Given the description of an element on the screen output the (x, y) to click on. 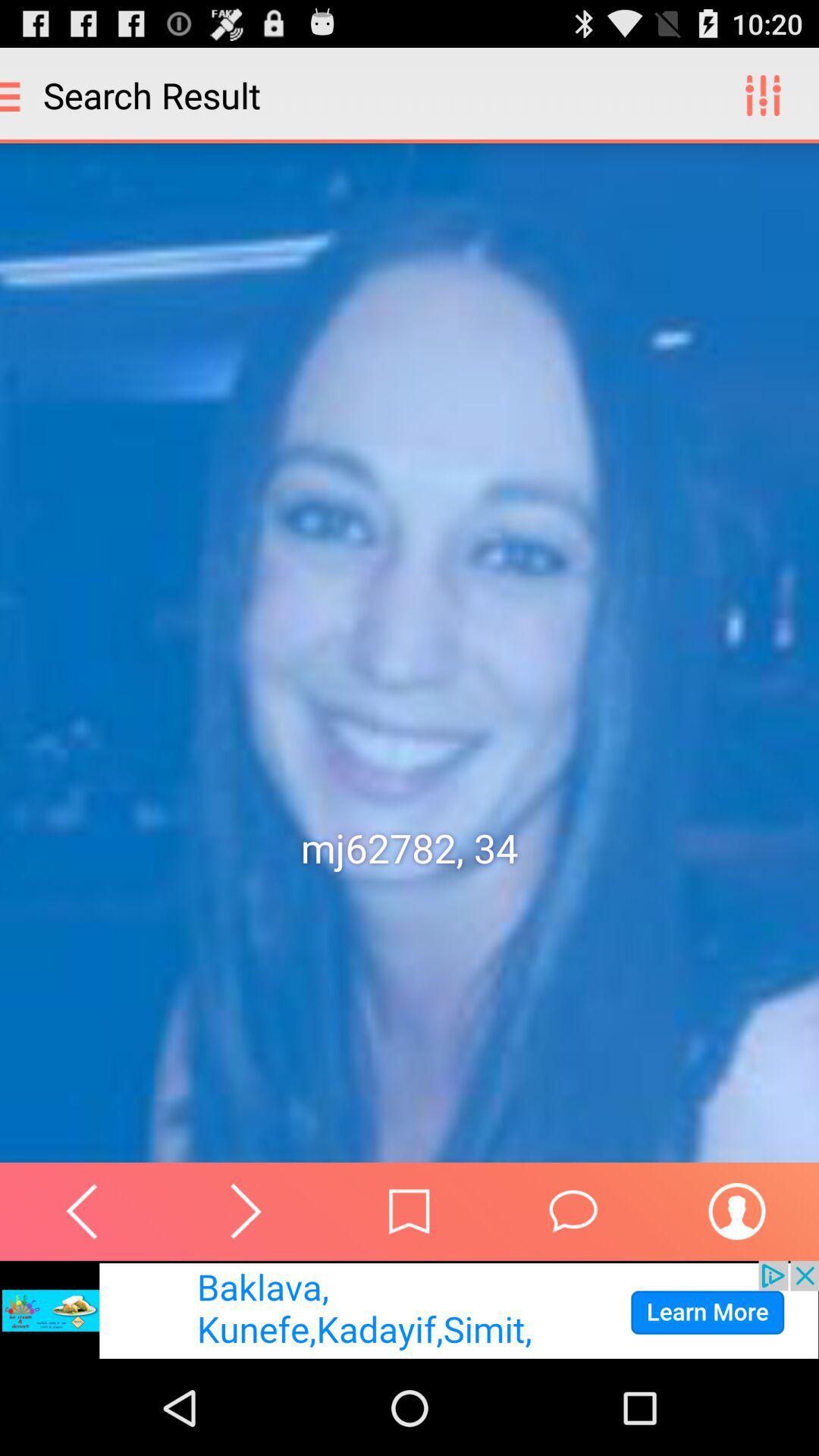
select the chat icon on the web page (573, 1211)
